Given the description of an element on the screen output the (x, y) to click on. 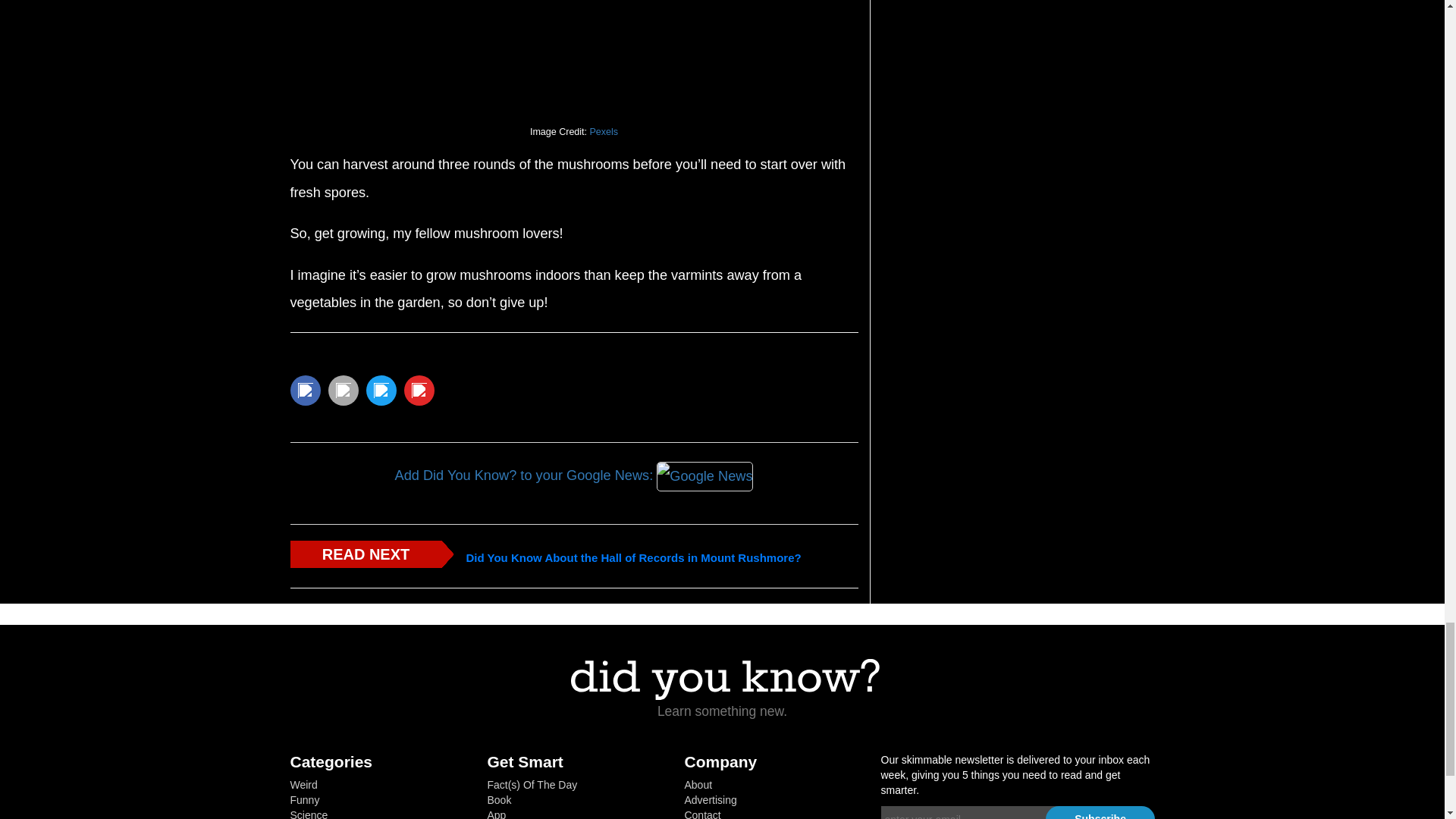
Google News (704, 475)
Did You Know About the Hall of Records in Mount Rushmore? (632, 558)
Subscribe (1100, 812)
